Given the description of an element on the screen output the (x, y) to click on. 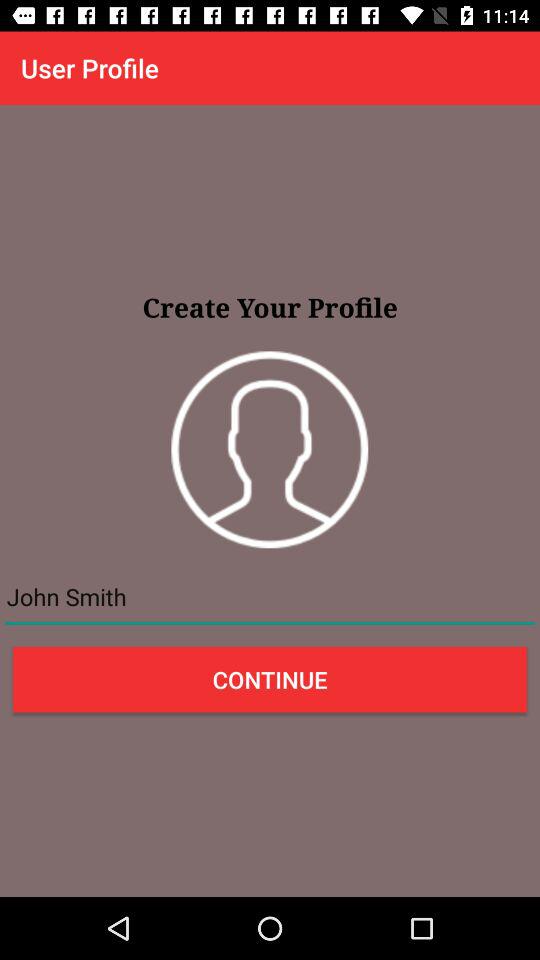
jump to john smith (270, 597)
